Given the description of an element on the screen output the (x, y) to click on. 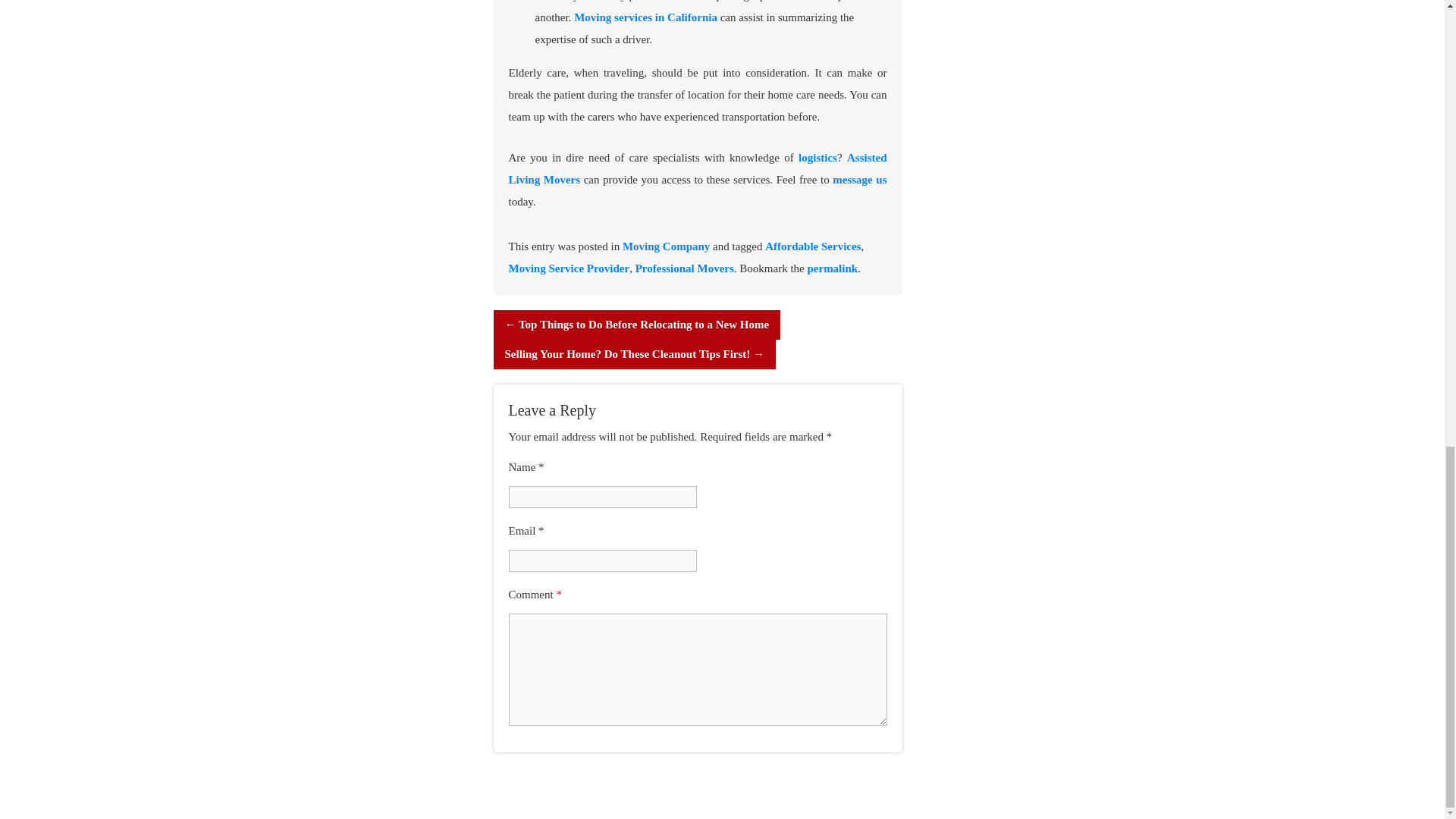
Affordable Services (812, 246)
message us (859, 179)
logistics (817, 157)
Permalink to Tips for Finding a Qualified Moving Company (831, 268)
permalink (831, 268)
Professional Movers (683, 268)
Moving services in California (645, 17)
Moving Service Provider (568, 268)
Moving Company (666, 246)
